Given the description of an element on the screen output the (x, y) to click on. 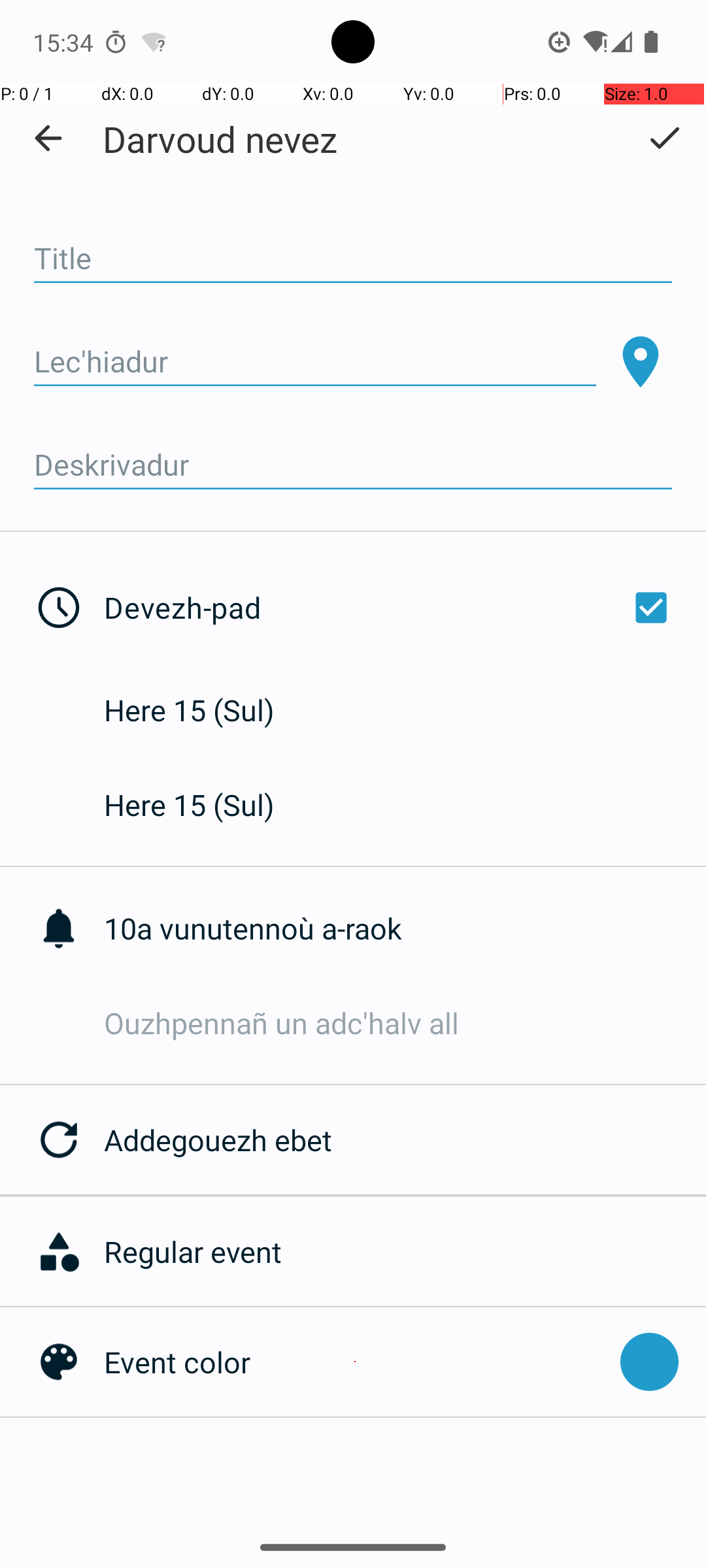
Darvoud nevez Element type: android.widget.TextView (219, 138)
Lec'hiadur Element type: android.widget.EditText (314, 361)
Deskrivadur Element type: android.widget.EditText (352, 465)
Here 15 (Sul) Element type: android.widget.TextView (202, 709)
10a vunutennoù a-raok Element type: android.widget.TextView (404, 927)
Ouzhpennañ un adc'halv all Element type: android.widget.TextView (404, 1022)
Addegouezh ebet Element type: android.widget.TextView (404, 1139)
Devezh-pad Element type: android.widget.CheckBox (390, 607)
